Given the description of an element on the screen output the (x, y) to click on. 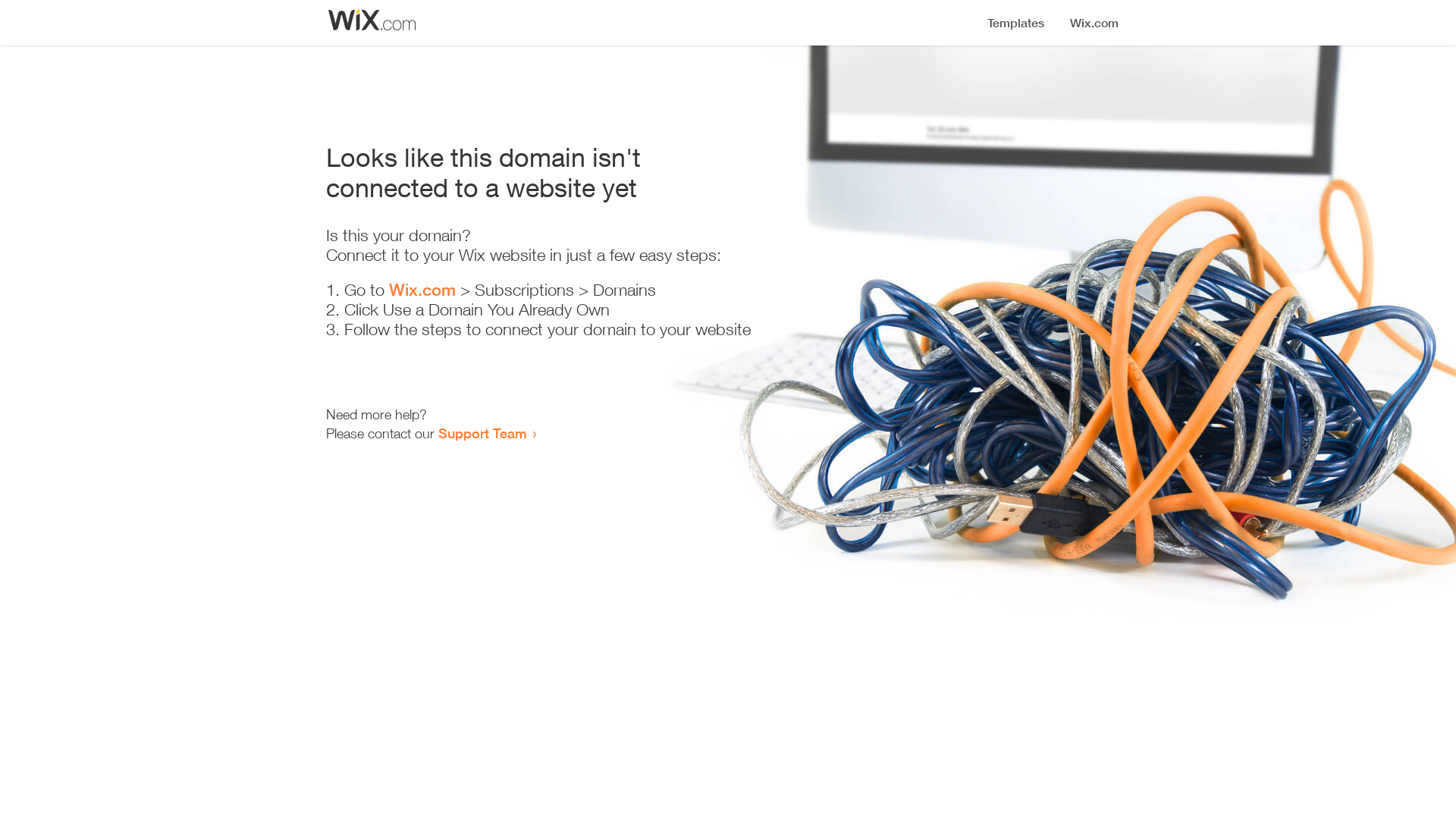
Support Team Element type: text (482, 432)
Wix.com Element type: text (422, 289)
